Given the description of an element on the screen output the (x, y) to click on. 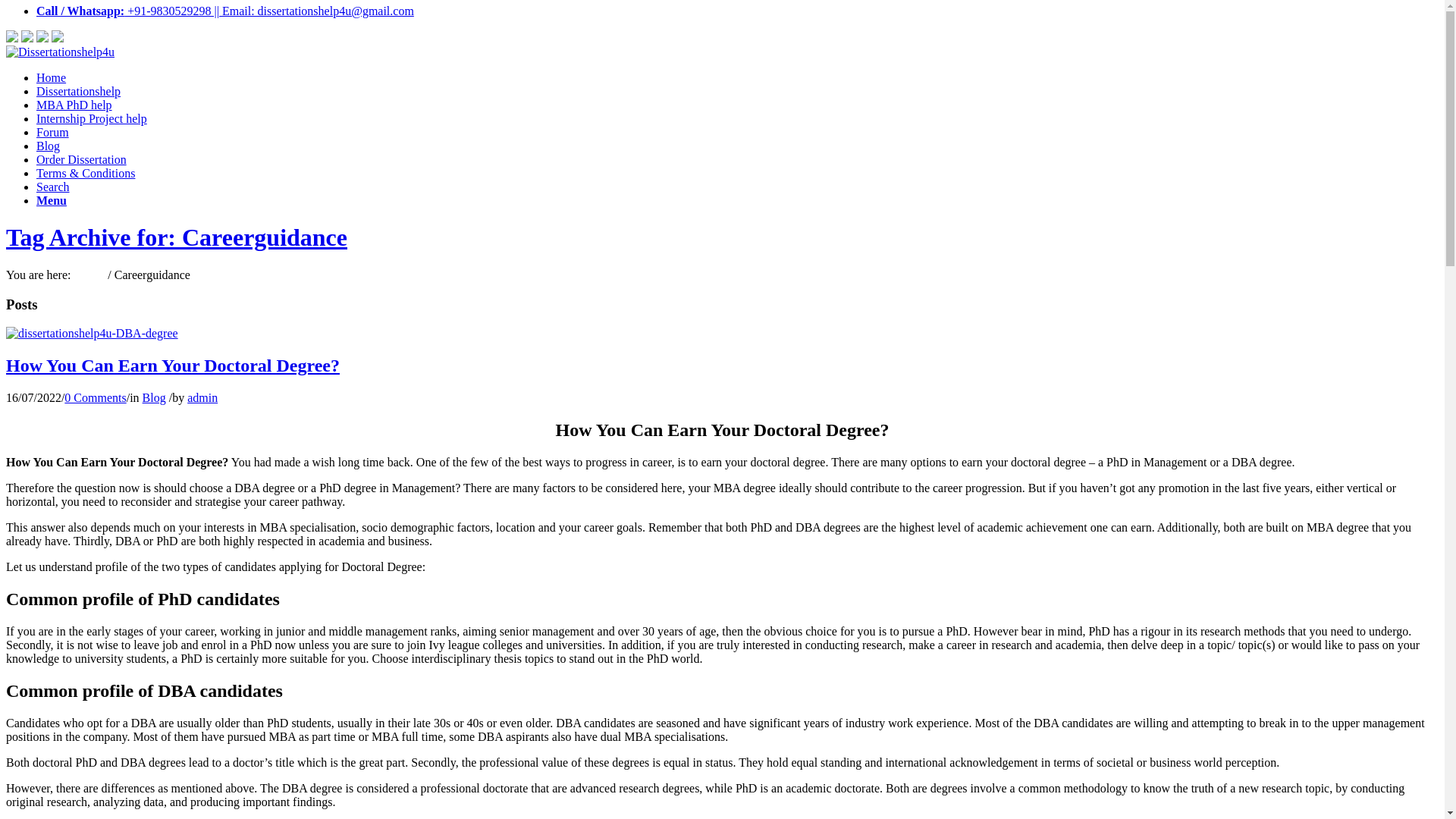
Blog (47, 145)
Dissertationshelp4u (89, 274)
admin (201, 397)
Search (52, 186)
How You Can Earn Your Doctoral Degree? (172, 365)
Dissertationshelp (78, 91)
Home (89, 274)
Blog (153, 397)
Permanent Link: Tag Archive for: Careerguidance (176, 236)
MBA PhD help (74, 104)
Posts by admin (201, 397)
Home (50, 77)
dissertationshelp4u-DBA-degree (91, 332)
Permanent Link: How You Can Earn Your Doctoral Degree? (172, 365)
Forum (52, 132)
